Given the description of an element on the screen output the (x, y) to click on. 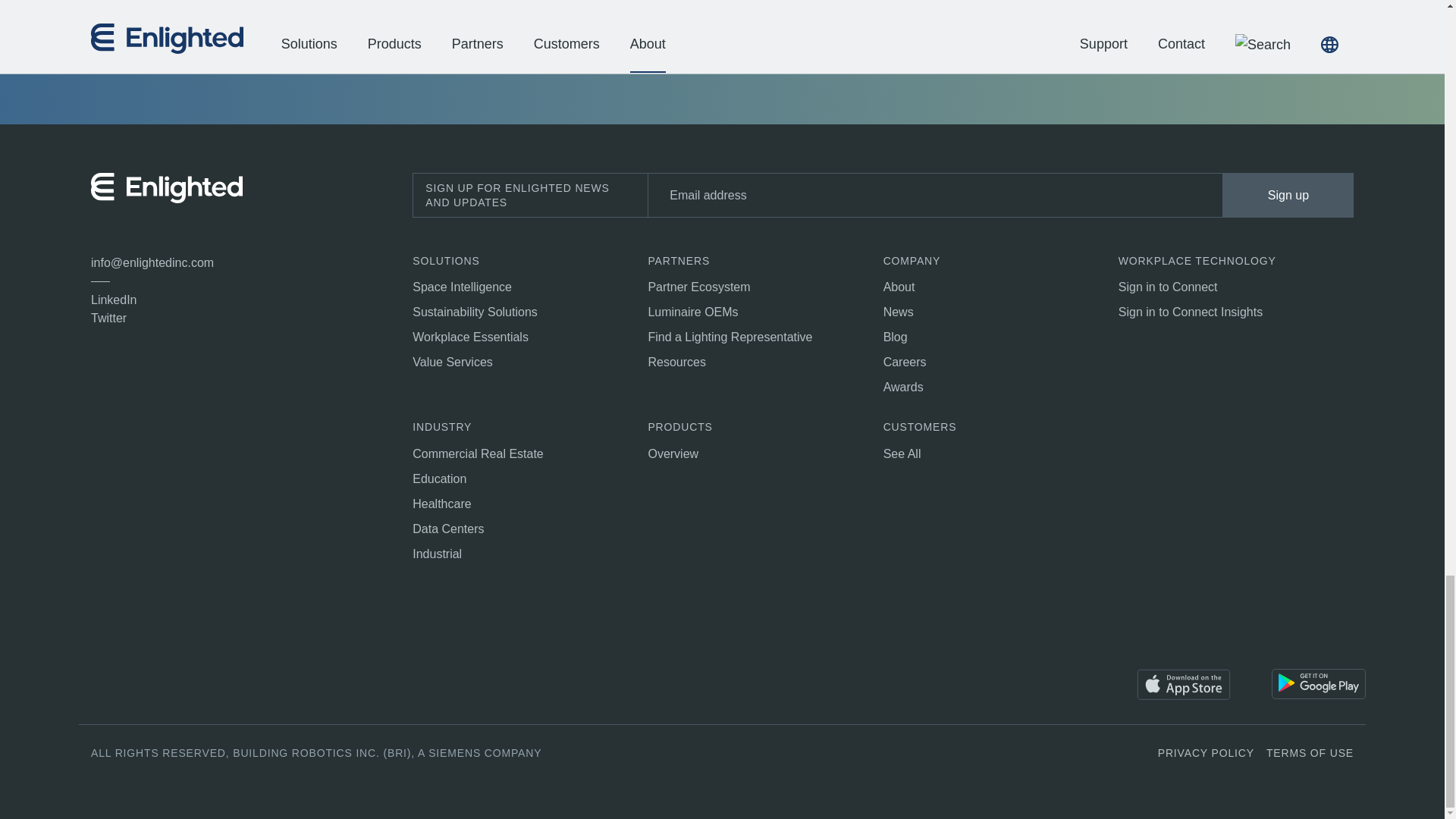
Workplace Essentials (470, 336)
Education (438, 477)
Solutions (526, 264)
Partners (761, 264)
Commercial Real Estate (477, 453)
Data Centers (447, 527)
Sign up (1288, 194)
Find a Lighting Representative (729, 336)
Resources (675, 361)
Sustainability Solutions (474, 311)
